Given the description of an element on the screen output the (x, y) to click on. 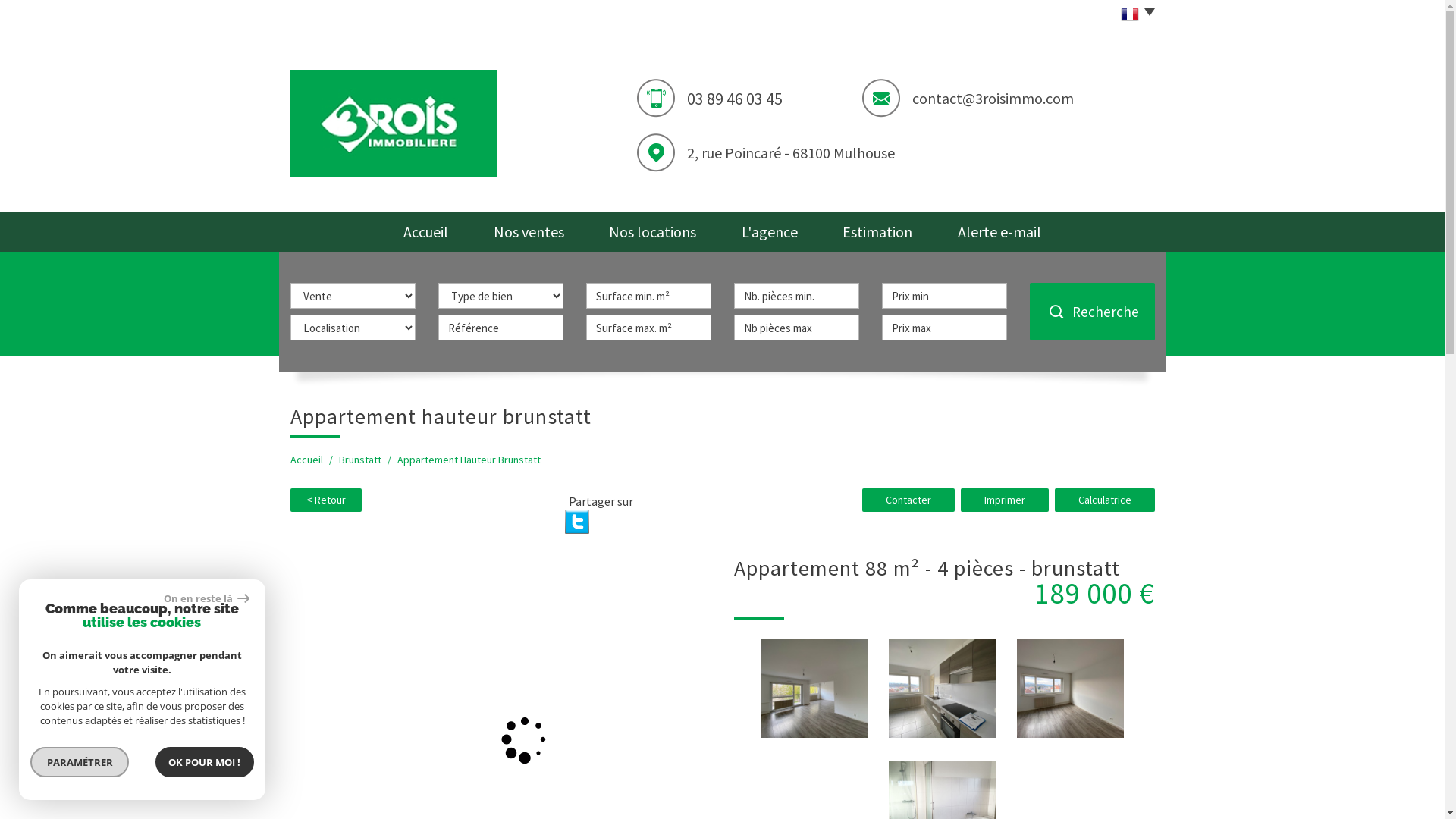
contact@3roisimmo.com Element type: text (992, 97)
Brunstatt Element type: text (359, 459)
Accueil Element type: text (425, 231)
L'agence Element type: text (769, 231)
Choisir la langue Element type: text (1133, 15)
Nos locations Element type: text (652, 231)
Accueil Element type: text (305, 459)
Recherche Element type: text (1091, 311)
Nos ventes Element type: text (528, 231)
OK POUR MOI ! Element type: text (204, 761)
Calculatrice Element type: text (1104, 499)
Contacter Element type: text (907, 499)
Estimation Element type: text (877, 231)
Imprimer Element type: text (1004, 499)
Alerte e-mail Element type: text (999, 231)
